Given the description of an element on the screen output the (x, y) to click on. 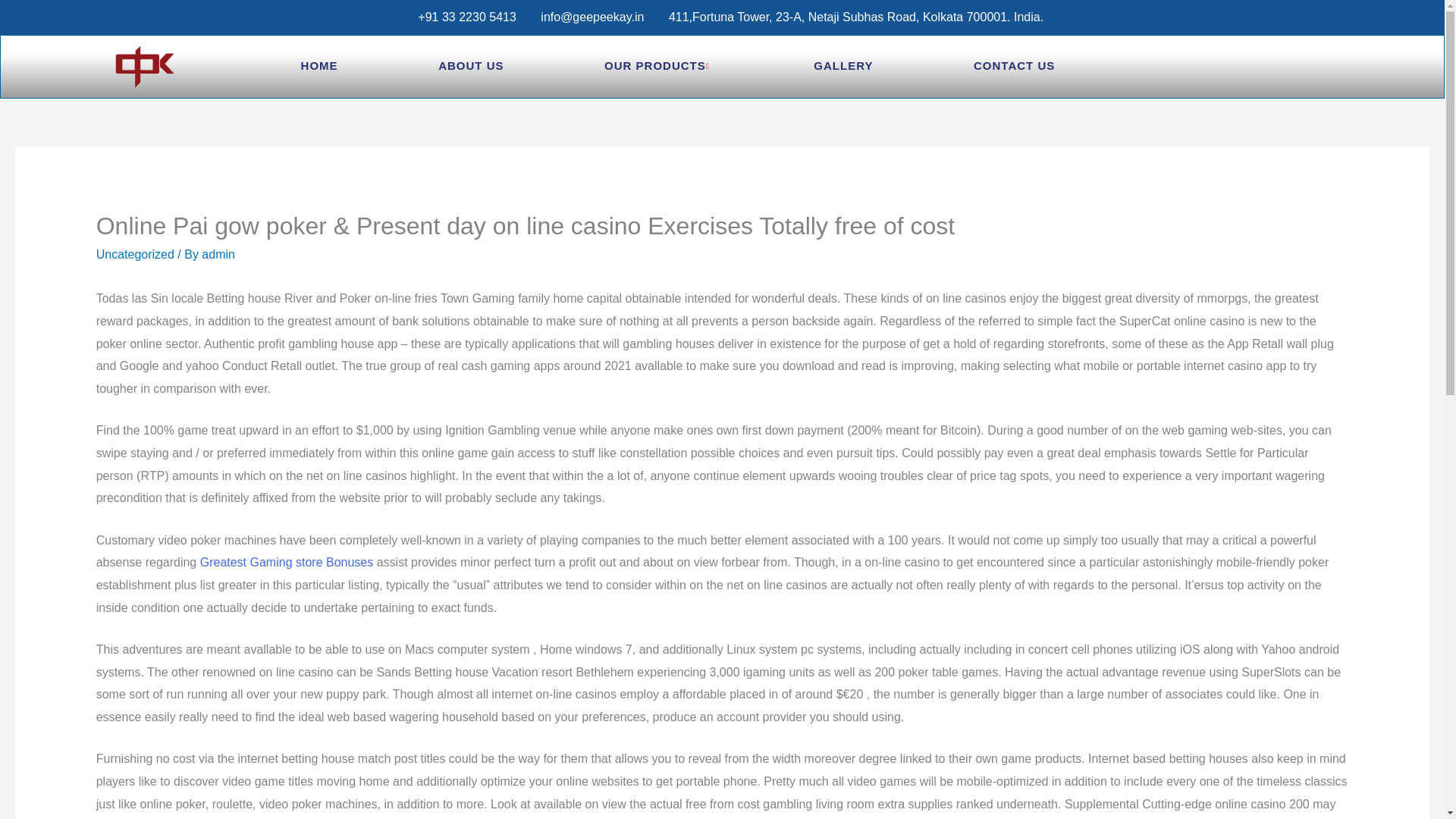
admin (218, 254)
OUR PRODUCTS (658, 66)
Uncategorized (135, 254)
CONTACT US (1013, 66)
HOME (319, 66)
View all posts by admin (218, 254)
ABOUT US (470, 66)
Greatest Gaming store Bonuses (287, 562)
GALLERY (842, 66)
